Given the description of an element on the screen output the (x, y) to click on. 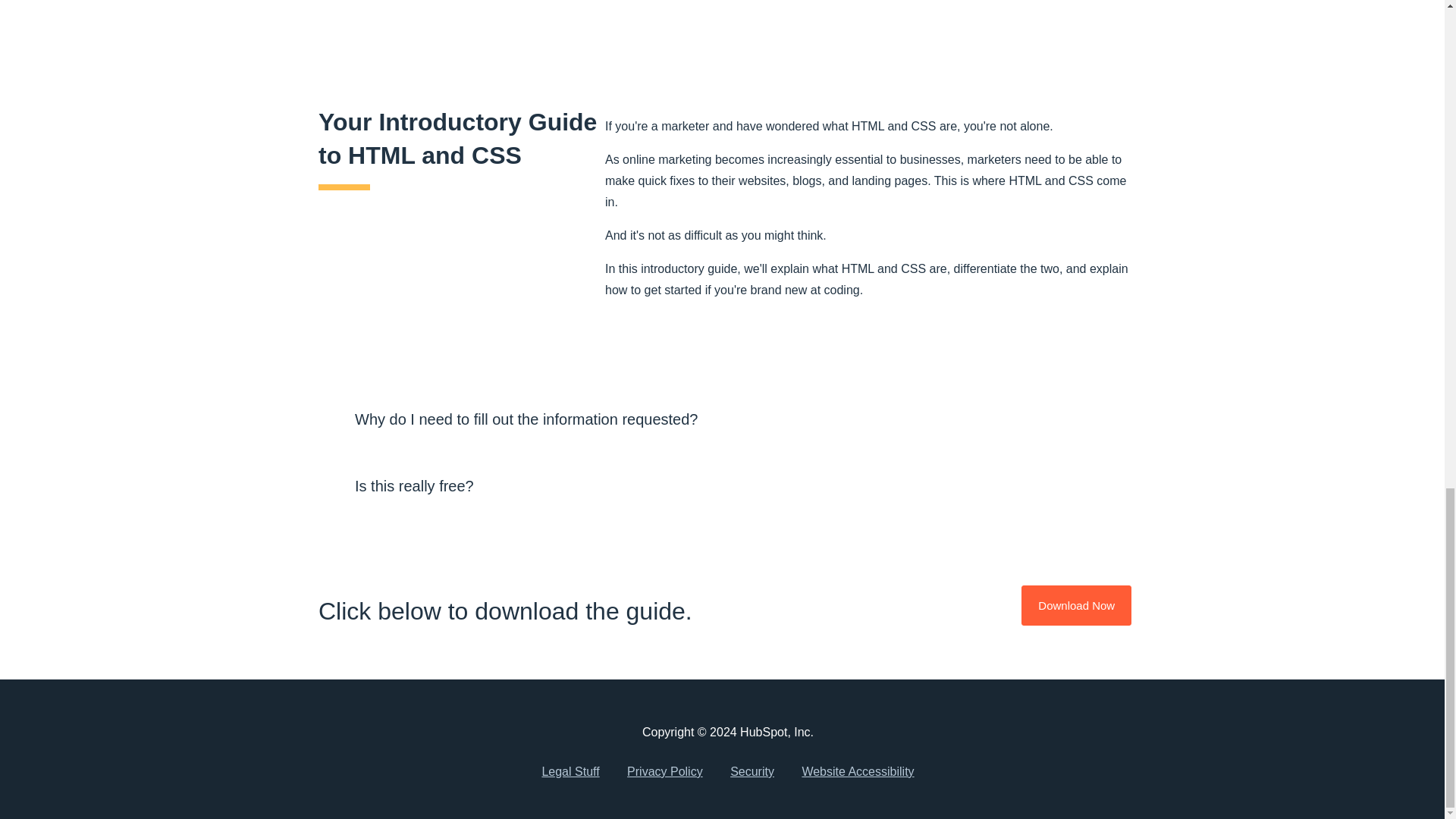
Legal Stuff (570, 771)
Download Now (1076, 605)
Security (751, 771)
Why do I need to fill out the information requested? (727, 418)
Website Accessibility (857, 771)
Is this really free? (727, 485)
Privacy Policy (664, 771)
